Given the description of an element on the screen output the (x, y) to click on. 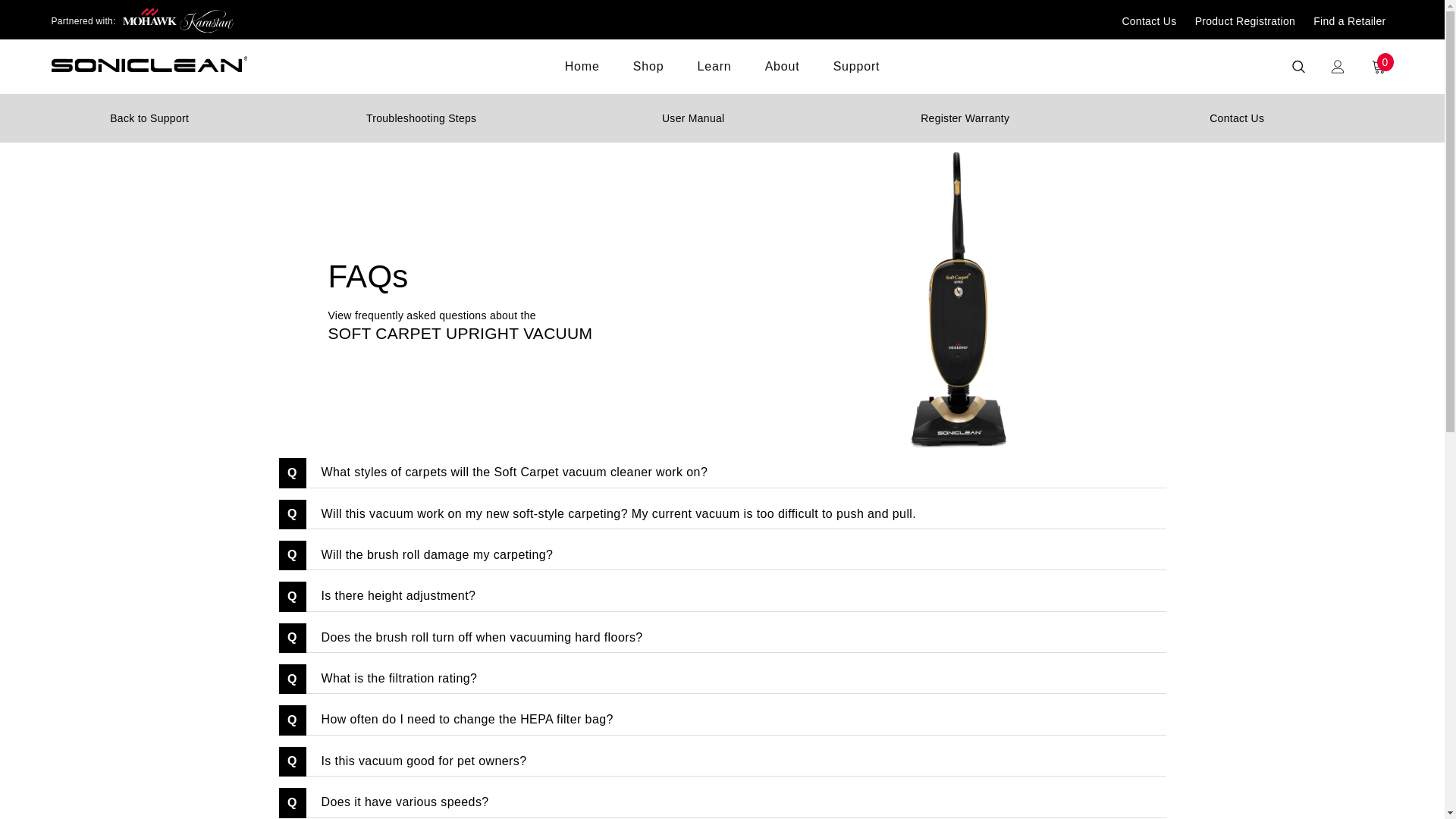
Contact Us (1148, 21)
Cart (1377, 66)
Will the brush roll damage my carpeting? (735, 555)
Product Registration (1245, 21)
Home (581, 75)
About (782, 75)
User Manual (692, 118)
Support (856, 75)
How often do I need to change the HEPA filter bag? (735, 719)
Is there height adjustment? (735, 595)
Find a Retailer (1349, 21)
Does it have various speeds? (735, 802)
Back to Support (149, 118)
What is the filtration rating? (735, 678)
Register Warranty (964, 118)
